Given the description of an element on the screen output the (x, y) to click on. 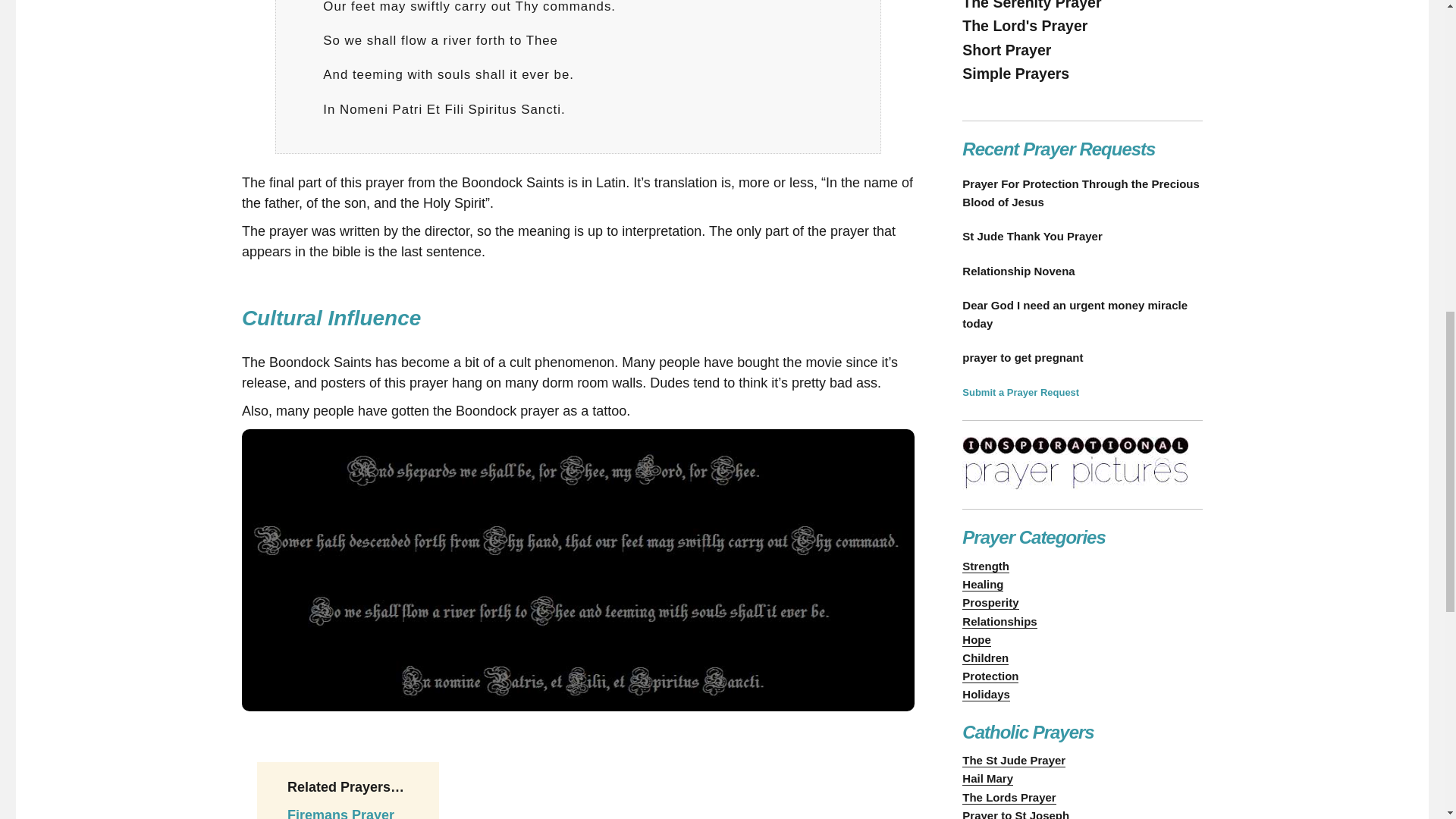
Healing (982, 584)
The Lord's Prayer (1024, 25)
Relationship Novena (1082, 271)
Dear God I need an urgent money miracle today (1082, 314)
The Serenity Prayer (1031, 5)
Children (985, 657)
Submit a Prayer Request (1020, 392)
Holidays (986, 694)
Prosperity (989, 602)
Hope (976, 639)
